Given the description of an element on the screen output the (x, y) to click on. 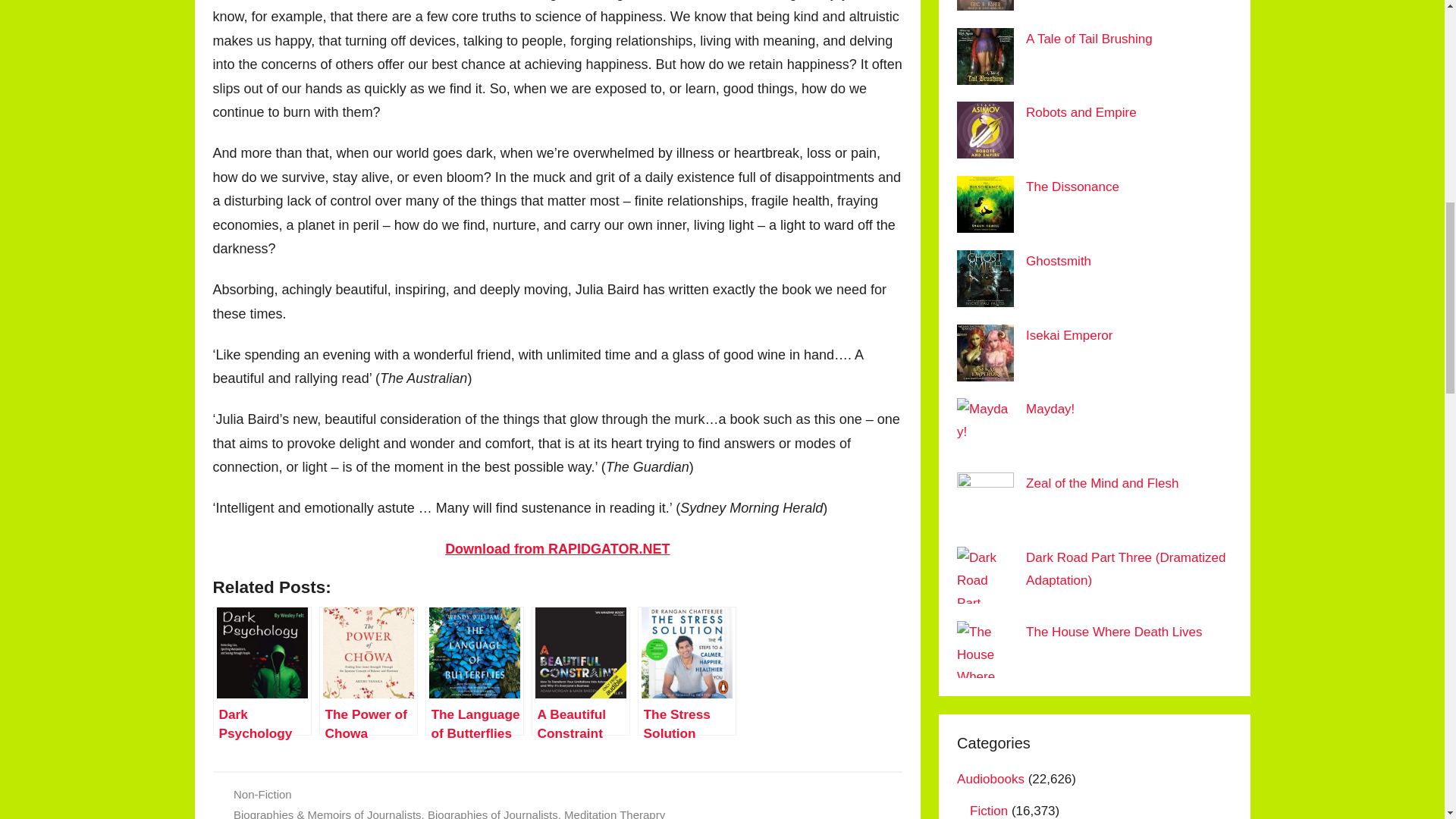
Biographies of Journalists (492, 813)
Meditation Therapry (614, 813)
Zeal of the Mind and Flesh (1101, 482)
Isekai Emperor (1069, 335)
Download from RAPIDGATOR.NET (557, 548)
Ghostsmith (1058, 260)
A Tale of Tail Brushing (1089, 38)
Robots and Empire (1081, 112)
Non-Fiction (262, 793)
The Dissonance (1072, 186)
